Given the description of an element on the screen output the (x, y) to click on. 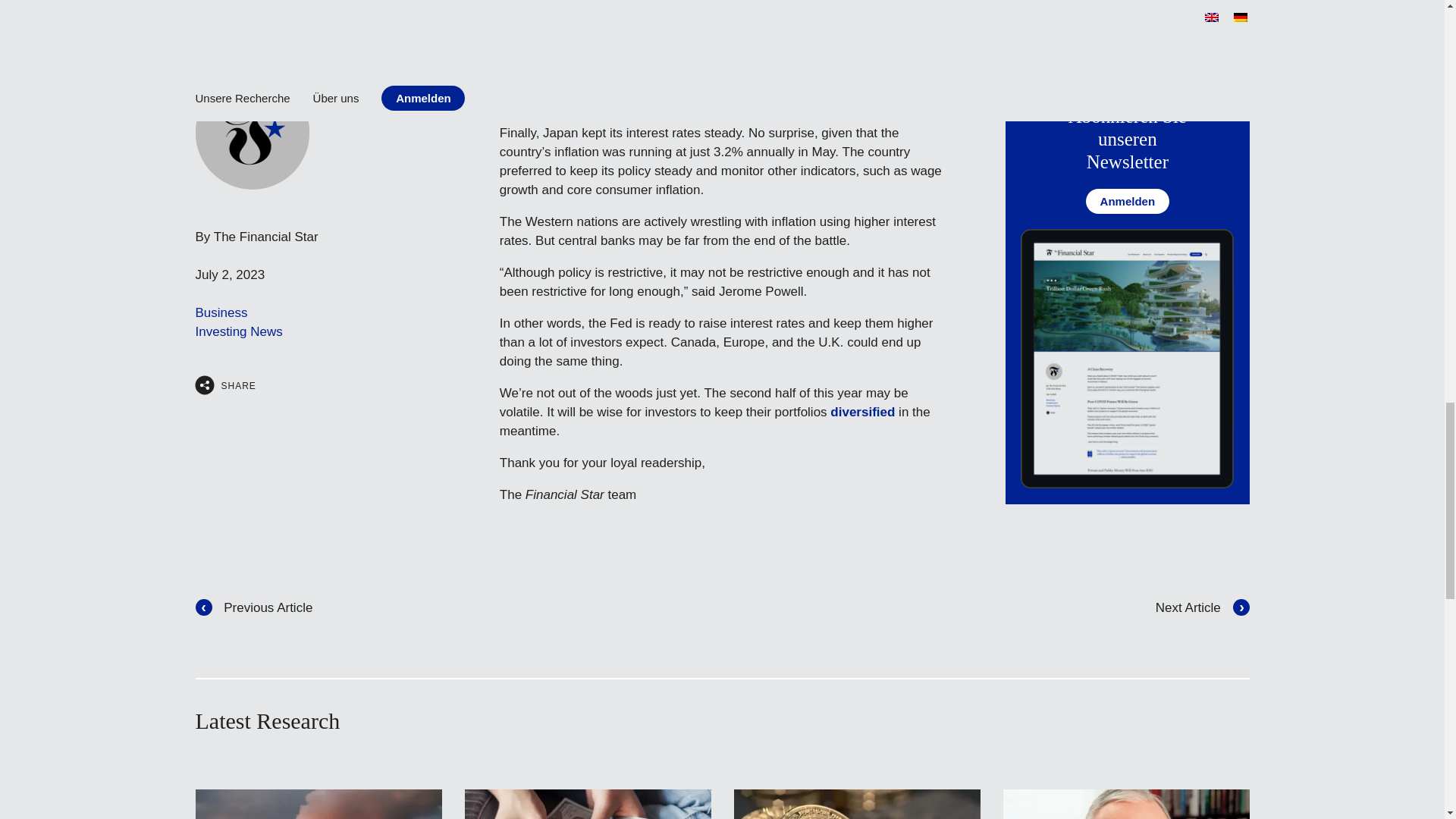
Previous Article (254, 606)
diversified (862, 411)
Next Article (1202, 606)
